Given the description of an element on the screen output the (x, y) to click on. 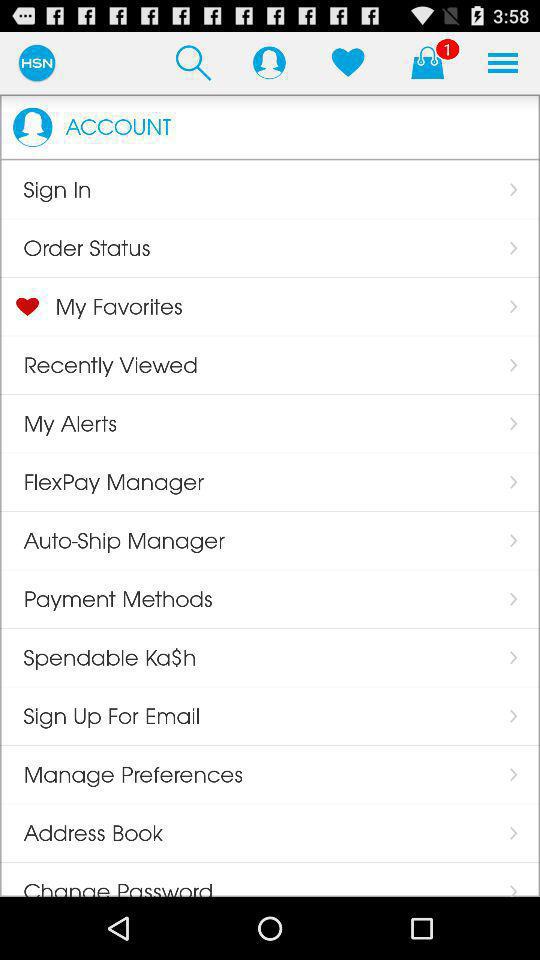
swipe to manage preferences app (121, 774)
